Given the description of an element on the screen output the (x, y) to click on. 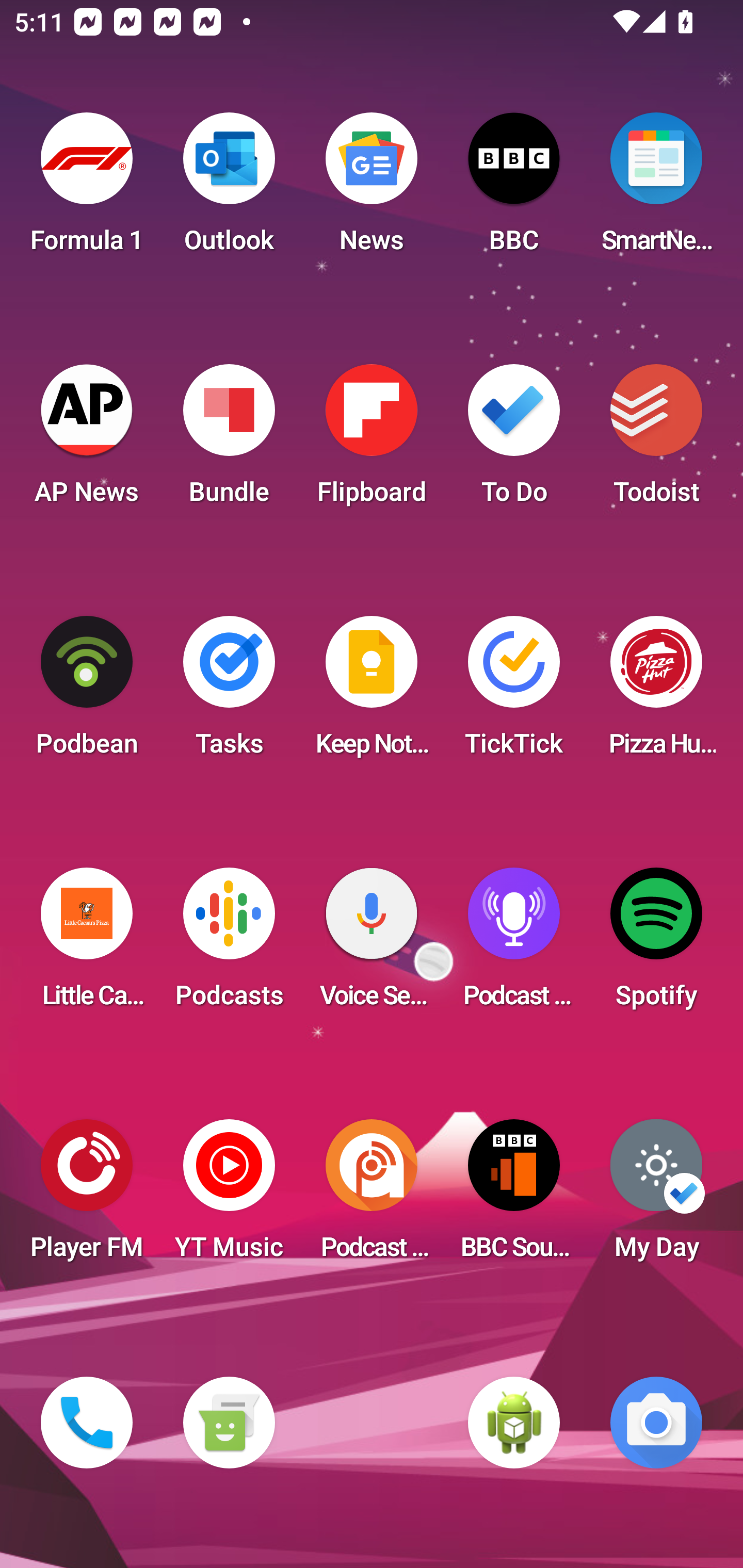
Formula 1 (86, 188)
Outlook (228, 188)
News (371, 188)
BBC (513, 188)
SmartNews (656, 188)
AP News (86, 440)
Bundle (228, 440)
Flipboard (371, 440)
To Do (513, 440)
Todoist (656, 440)
Podbean (86, 692)
Tasks (228, 692)
Keep Notes (371, 692)
TickTick (513, 692)
Pizza Hut HK & Macau (656, 692)
Little Caesars Pizza (86, 943)
Podcasts (228, 943)
Voice Search (371, 943)
Podcast Player (513, 943)
Spotify (656, 943)
Player FM (86, 1195)
YT Music (228, 1195)
Podcast Addict (371, 1195)
BBC Sounds (513, 1195)
My Day (656, 1195)
Phone (86, 1422)
Messaging (228, 1422)
WebView Browser Tester (513, 1422)
Camera (656, 1422)
